Given the description of an element on the screen output the (x, y) to click on. 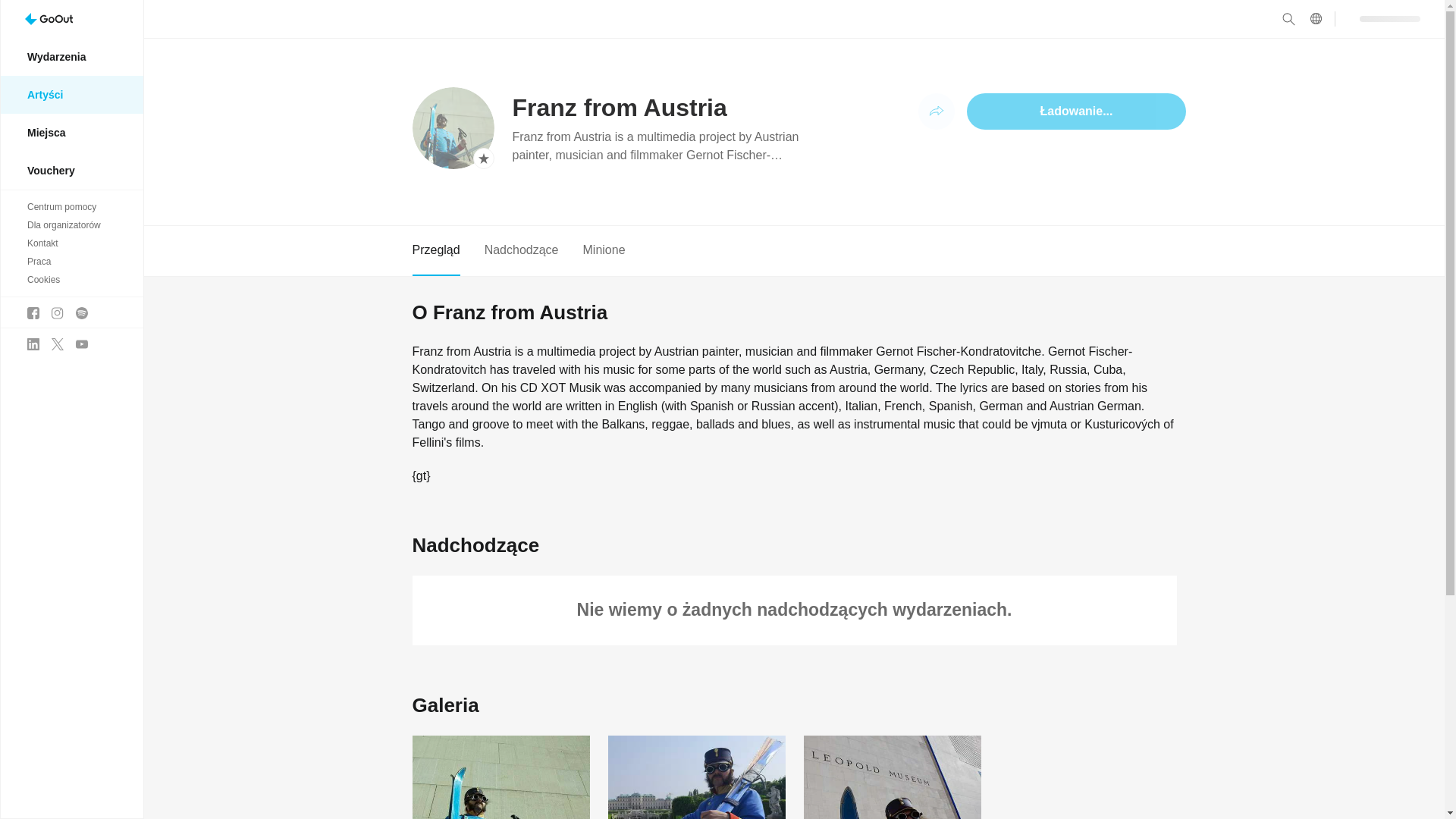
Praca (71, 261)
Vouchery (71, 170)
Wydarzenia (71, 56)
Centrum pomocy (71, 207)
Miejsca (71, 132)
Kontakt (71, 243)
